Given the description of an element on the screen output the (x, y) to click on. 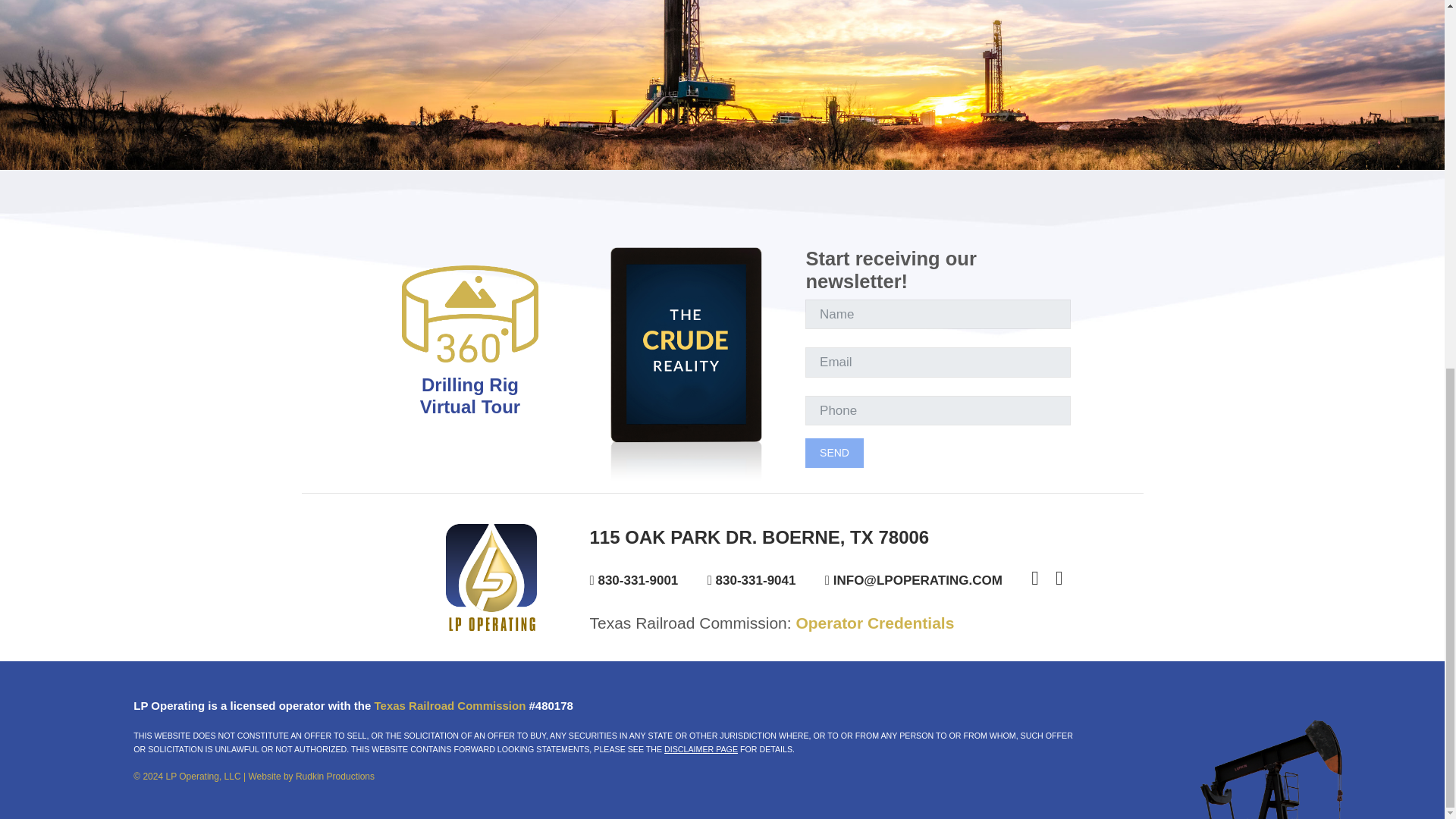
SEND (834, 452)
830-331-9001 (643, 580)
Texas Railroad Commission (449, 705)
Operator Credentials (873, 622)
Rudkin Productions (334, 776)
830-331-9041 (761, 580)
115 OAK PARK DR. BOERNE, TX 78006 (865, 537)
DISCLAIMER PAGE (700, 748)
LP Operating, LLC (202, 776)
SEND (469, 395)
